Given the description of an element on the screen output the (x, y) to click on. 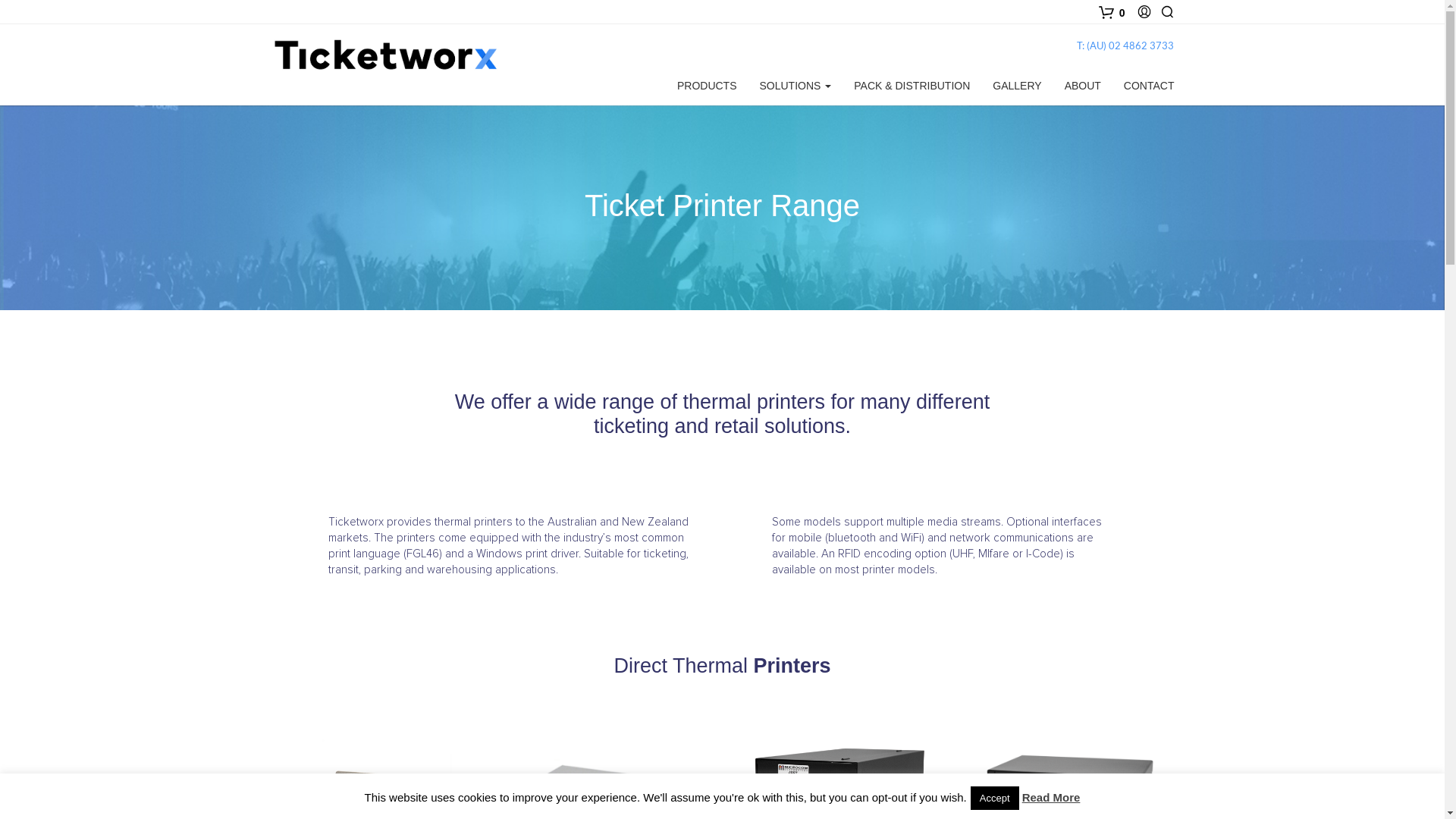
SOLUTIONS Element type: text (794, 85)
Login/Register Element type: text (1143, 11)
CONTACT Element type: text (1143, 85)
Accept Element type: text (994, 797)
ABOUT Element type: text (1082, 85)
0 Element type: text (1113, 12)
PACK & DISTRIBUTION Element type: text (911, 85)
GALLERY Element type: text (1016, 85)
Read More Element type: text (1051, 796)
PRODUCTS Element type: text (706, 85)
